Given the description of an element on the screen output the (x, y) to click on. 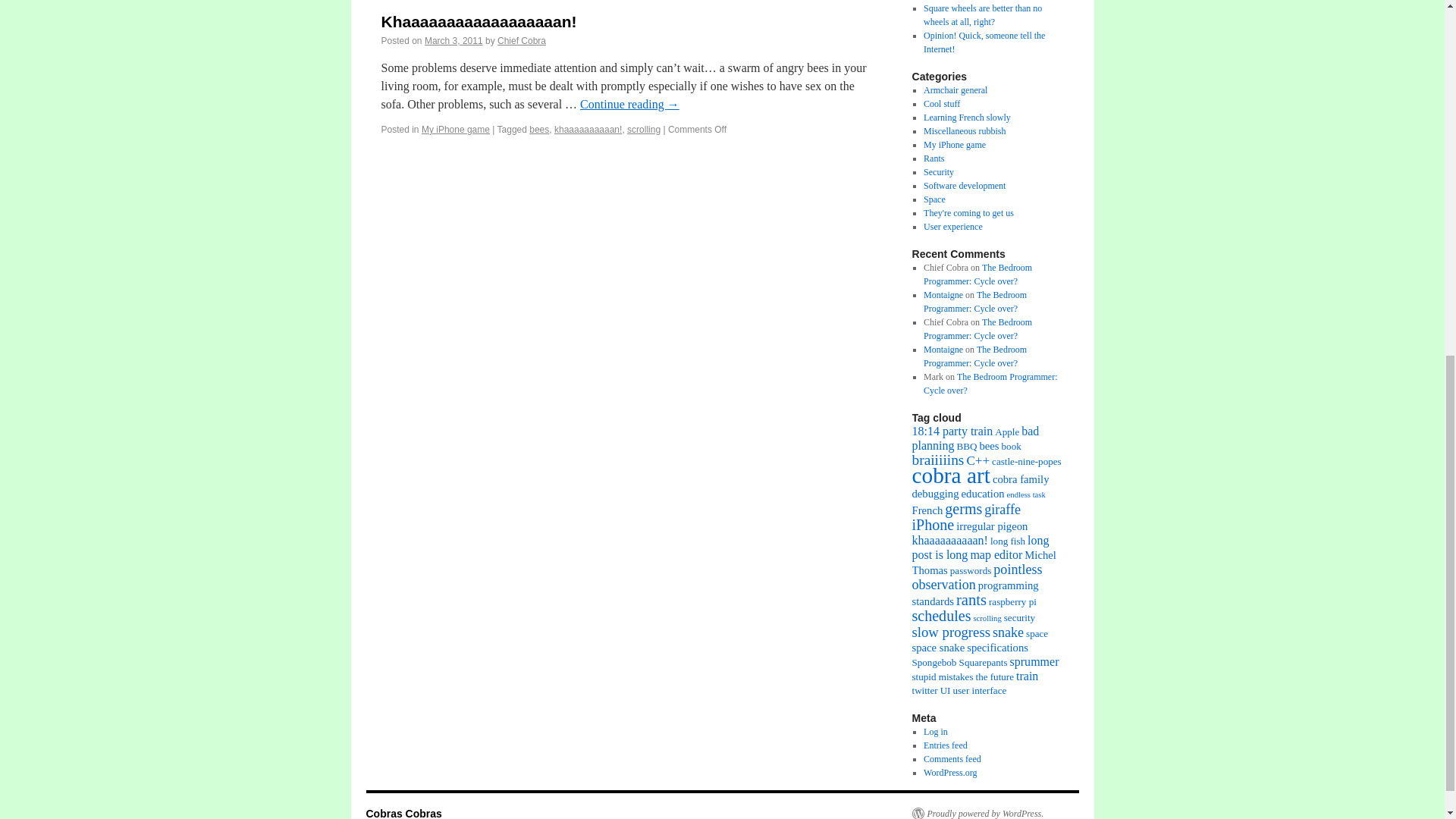
12:29 pm (454, 40)
Chief Cobra (521, 40)
scrolling (644, 129)
khaaaaaaaaaan! (587, 129)
View all posts by Chief Cobra (521, 40)
March 3, 2011 (454, 40)
Khaaaaaaaaaaaaaaaaaan! (478, 21)
My iPhone game (455, 129)
Permalink to Khaaaaaaaaaaaaaaaaaan! (478, 21)
bees (538, 129)
